Given the description of an element on the screen output the (x, y) to click on. 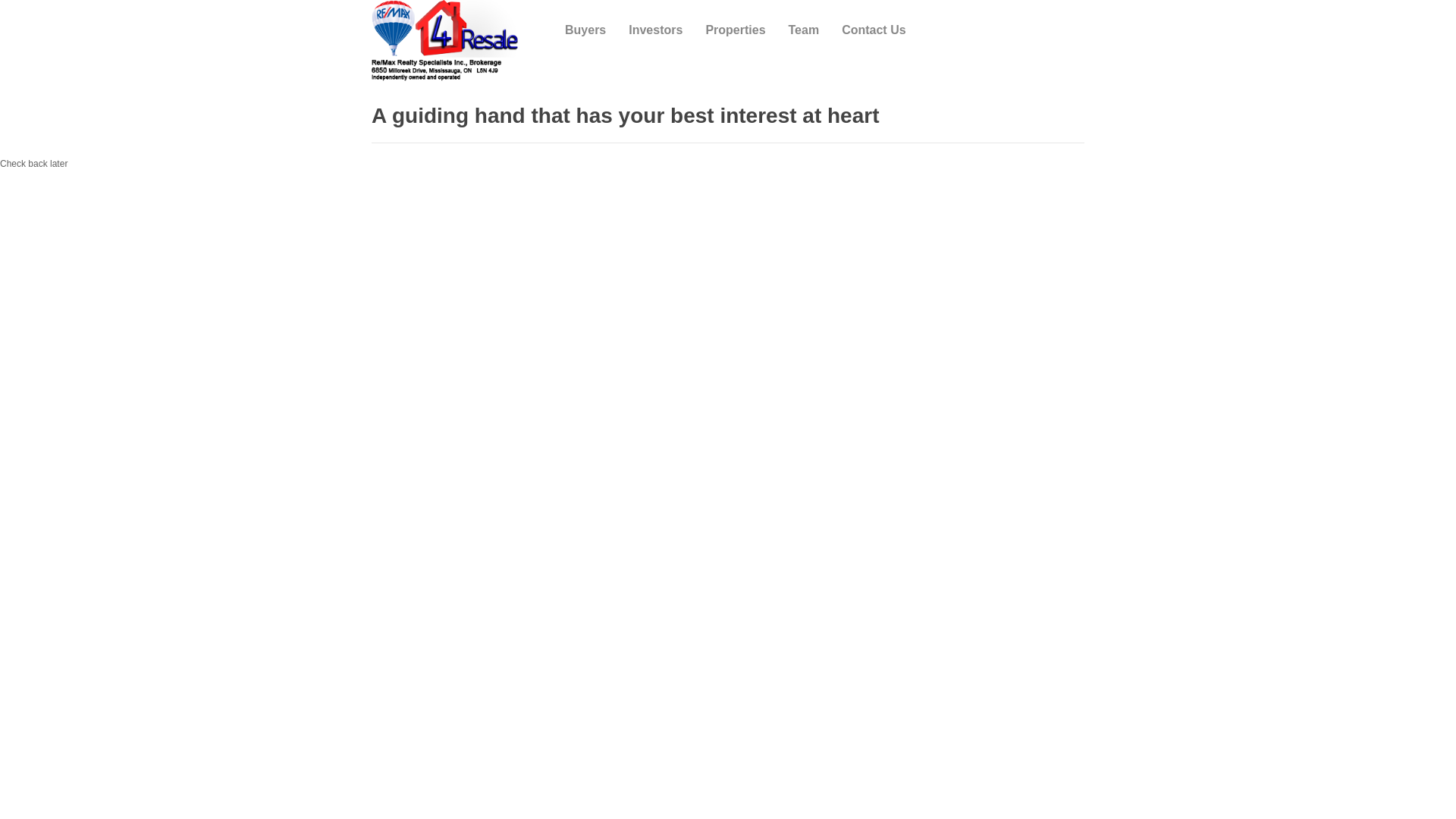
Buyers Element type: text (585, 30)
Team Element type: text (804, 30)
Contact Us Element type: text (873, 30)
Investors Element type: text (655, 30)
Properties Element type: text (734, 30)
